Given the description of an element on the screen output the (x, y) to click on. 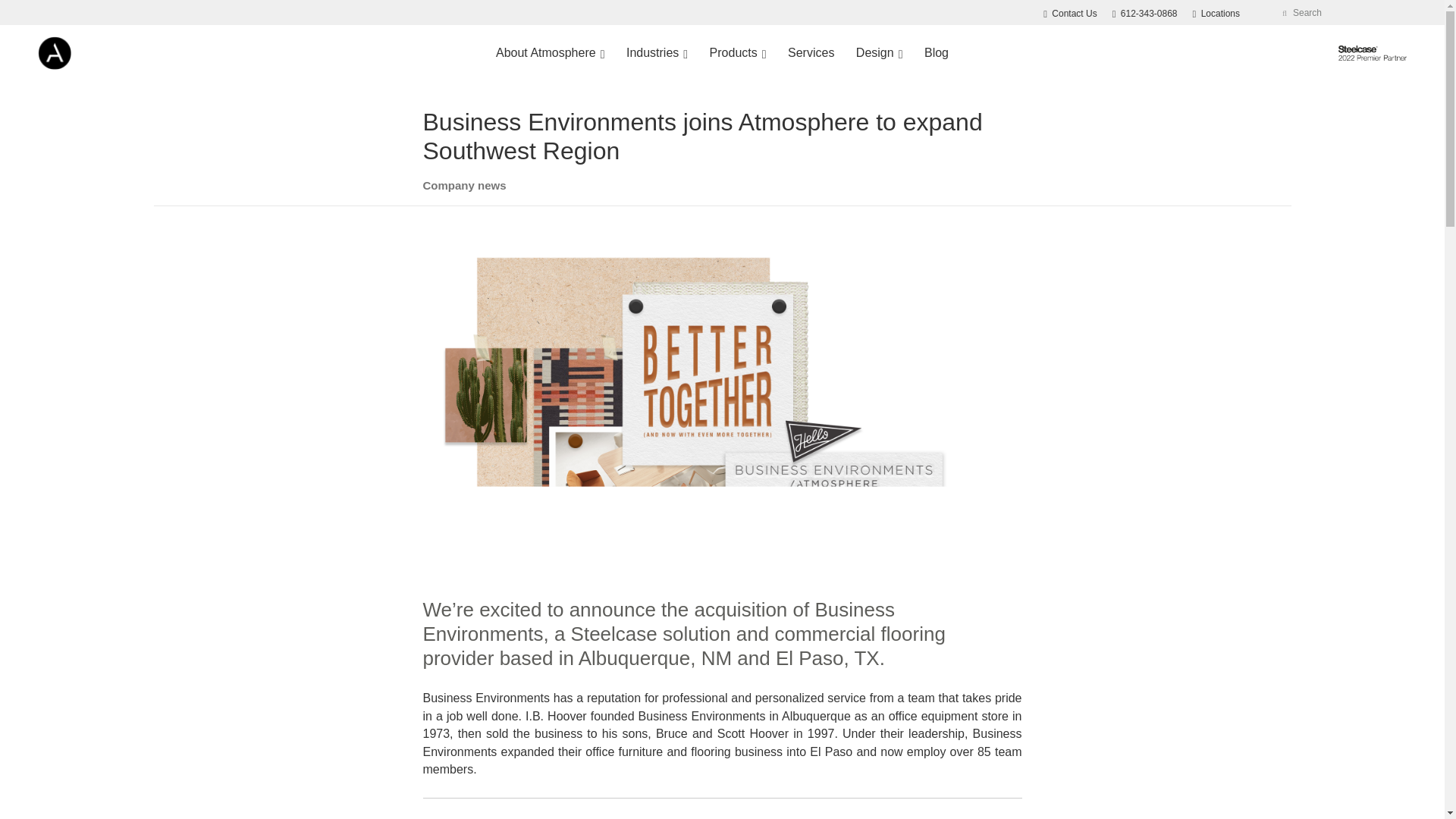
Locations (1144, 13)
Services (1216, 13)
Company news (810, 53)
Design (464, 185)
Industries (879, 53)
Contact Us (657, 53)
Steelcase 2022 Premier Partner (1069, 13)
Products (1372, 53)
Submit Search (738, 53)
